Given the description of an element on the screen output the (x, y) to click on. 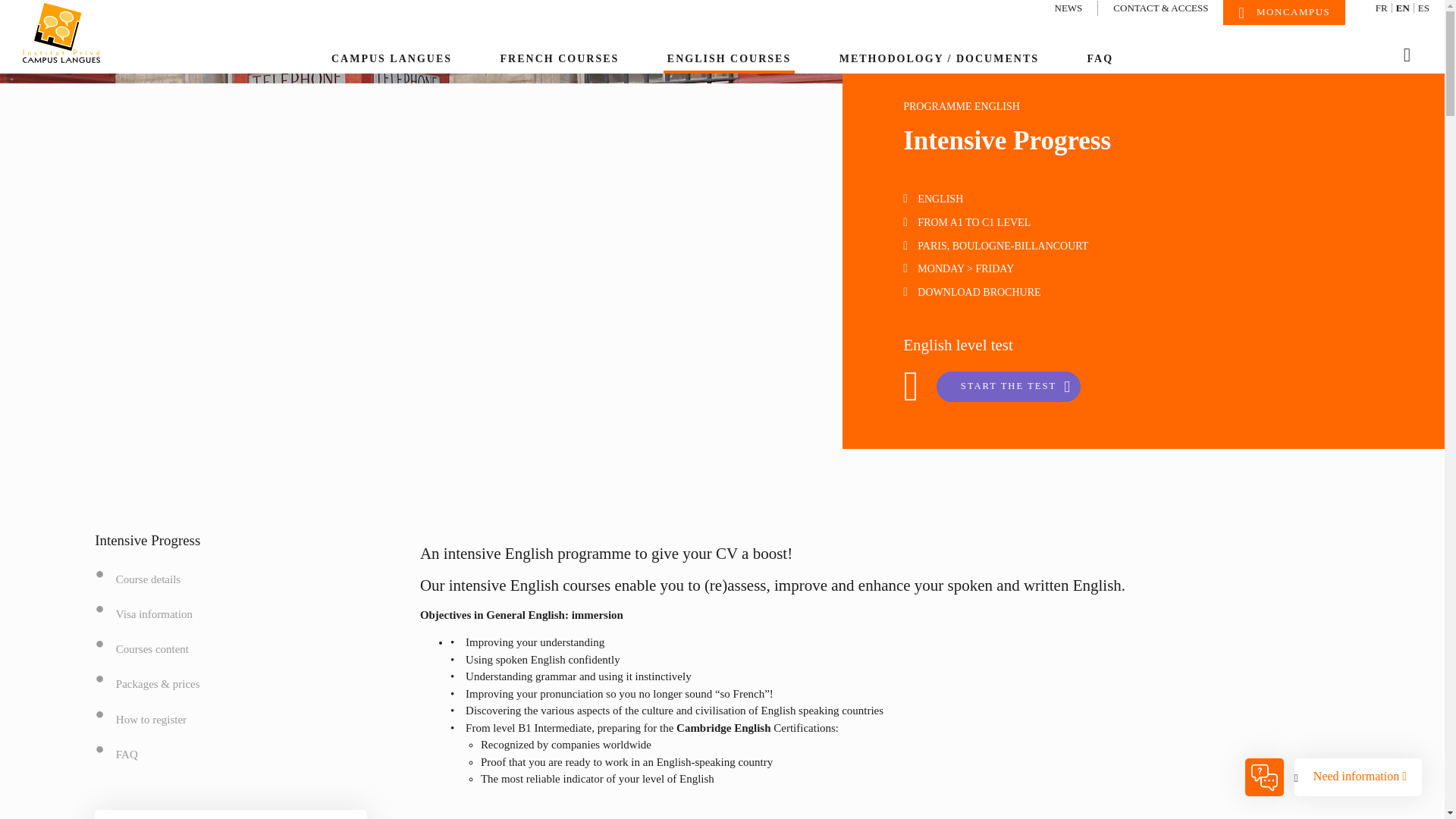
CAMPUS LANGUES (391, 60)
NEWS (1068, 7)
French version (1381, 8)
FR (1381, 8)
English version (1402, 8)
Home (74, 33)
ES (1422, 8)
Skip to main content (721, 68)
Spanish version (1422, 8)
EN (1402, 8)
MONCAMPUS (1284, 12)
FRENCH COURSES (559, 60)
